Given the description of an element on the screen output the (x, y) to click on. 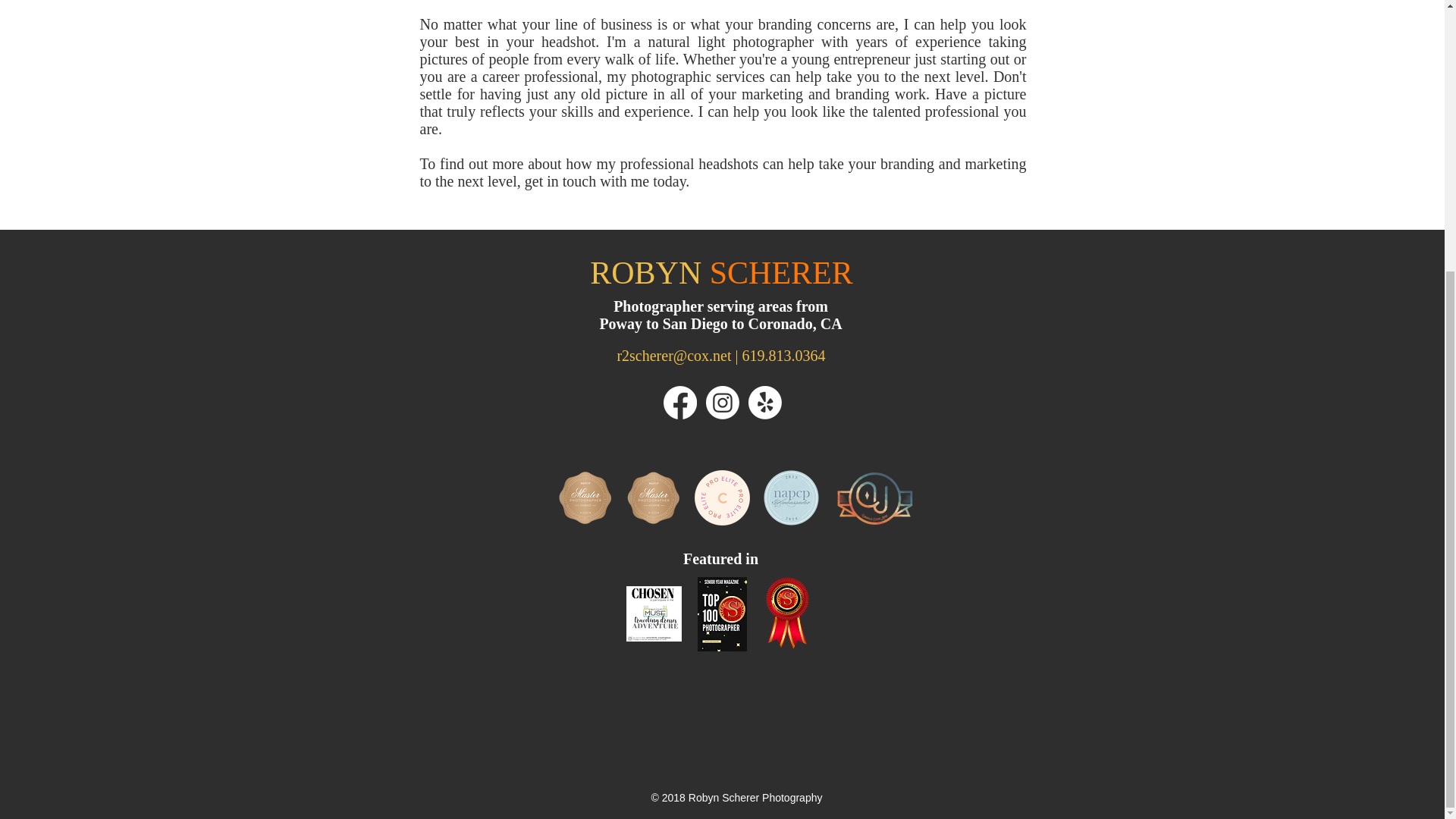
Master Photographer Family Seal 2022 (583, 497)
MasterPhotographerSeniorSeal.png (651, 497)
